Given the description of an element on the screen output the (x, y) to click on. 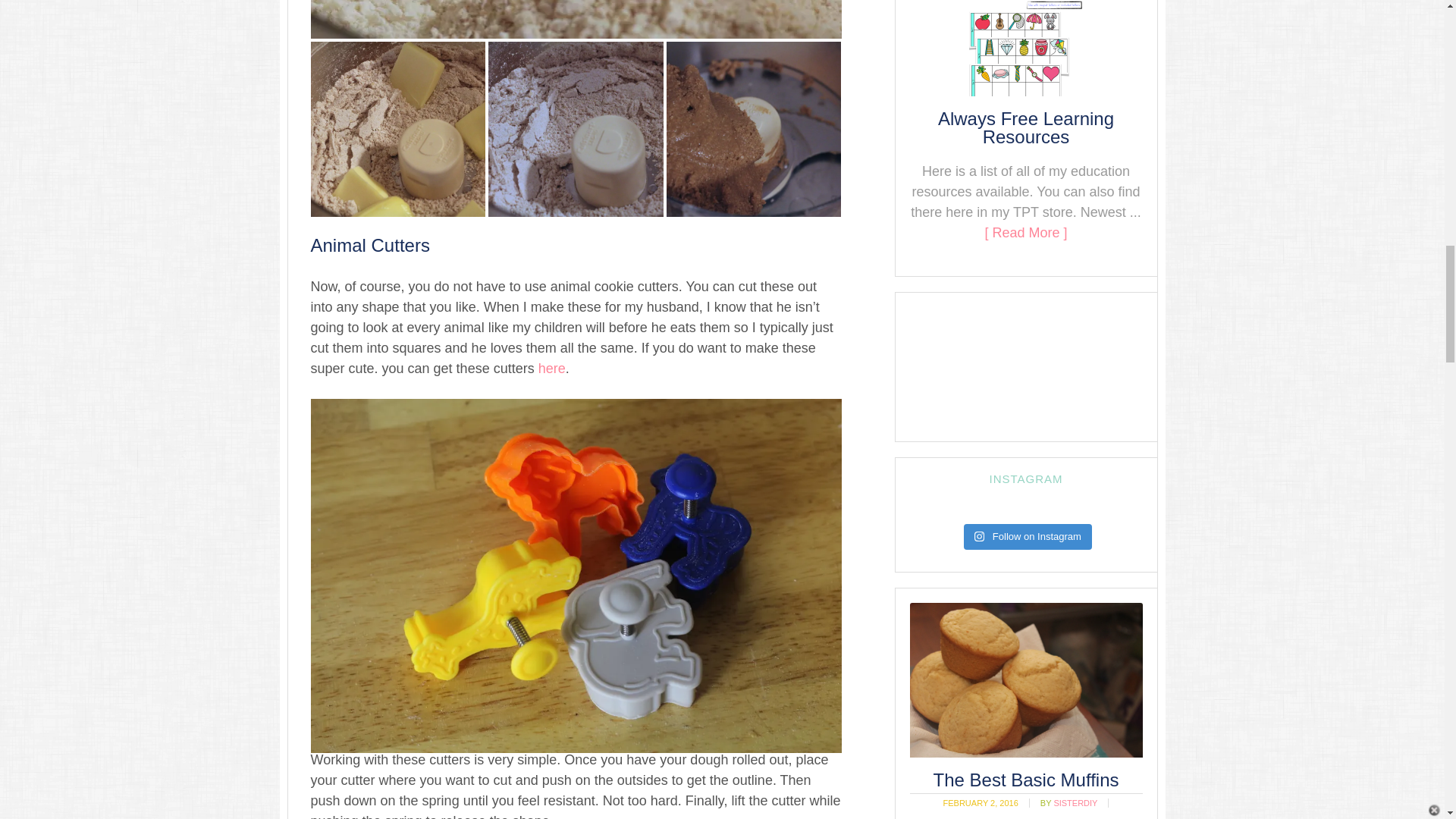
here (552, 368)
